Given the description of an element on the screen output the (x, y) to click on. 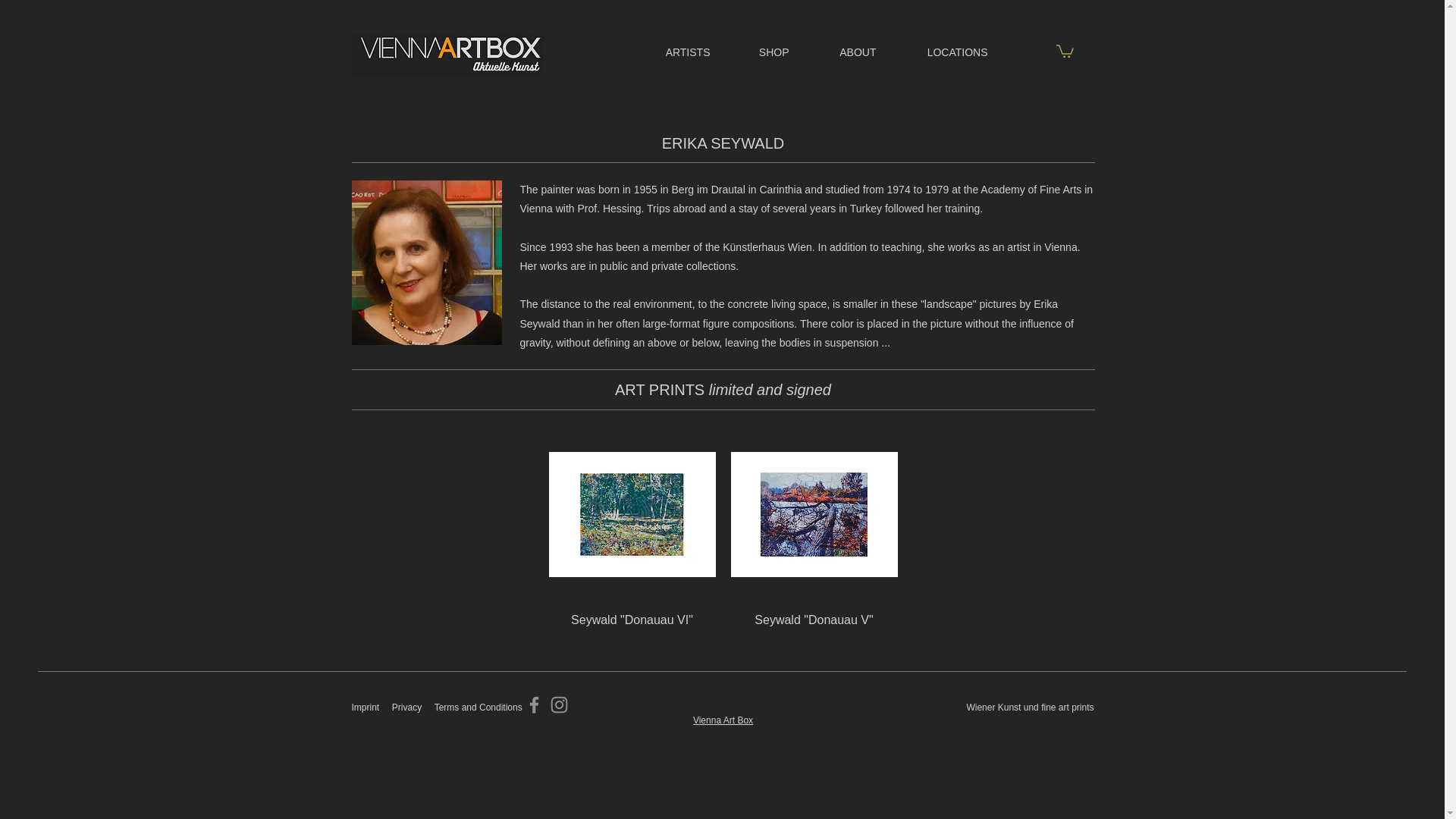
Seywald "Donauau VI" (632, 620)
ABOUT (844, 52)
Seywald "Donauau V" (814, 620)
LOCATIONS (942, 52)
